Given the description of an element on the screen output the (x, y) to click on. 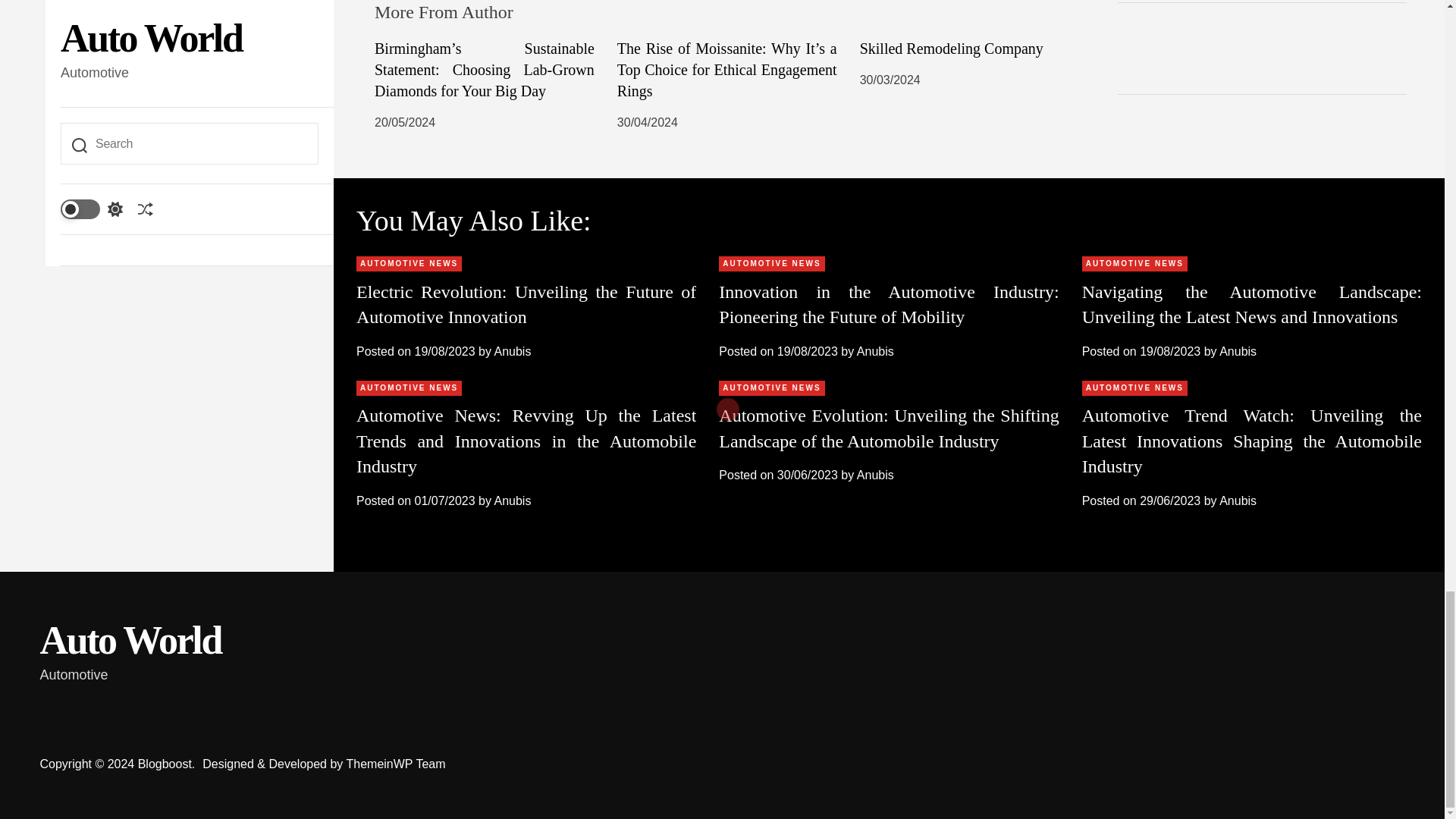
Skilled Remodeling Company (951, 48)
